Given the description of an element on the screen output the (x, y) to click on. 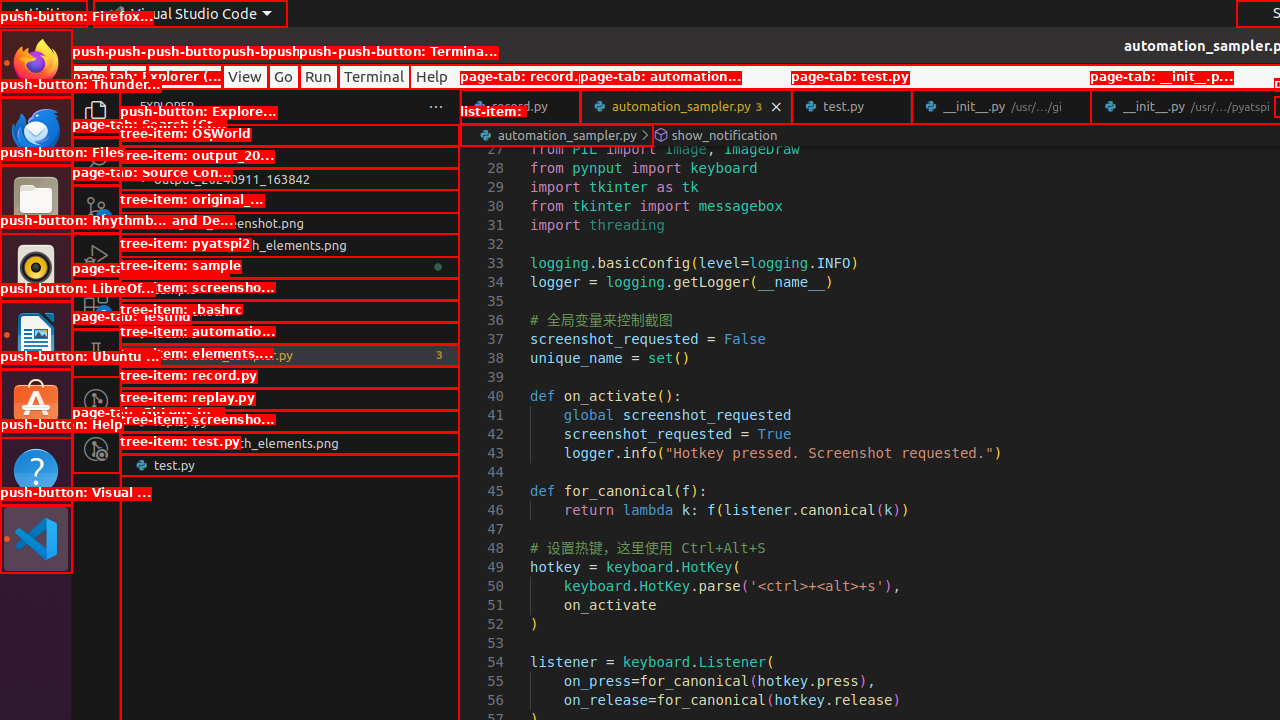
record.py Element type: tree-item (289, 399)
Explorer (Ctrl+Shift+E) Element type: page-tab (96, 113)
